Given the description of an element on the screen output the (x, y) to click on. 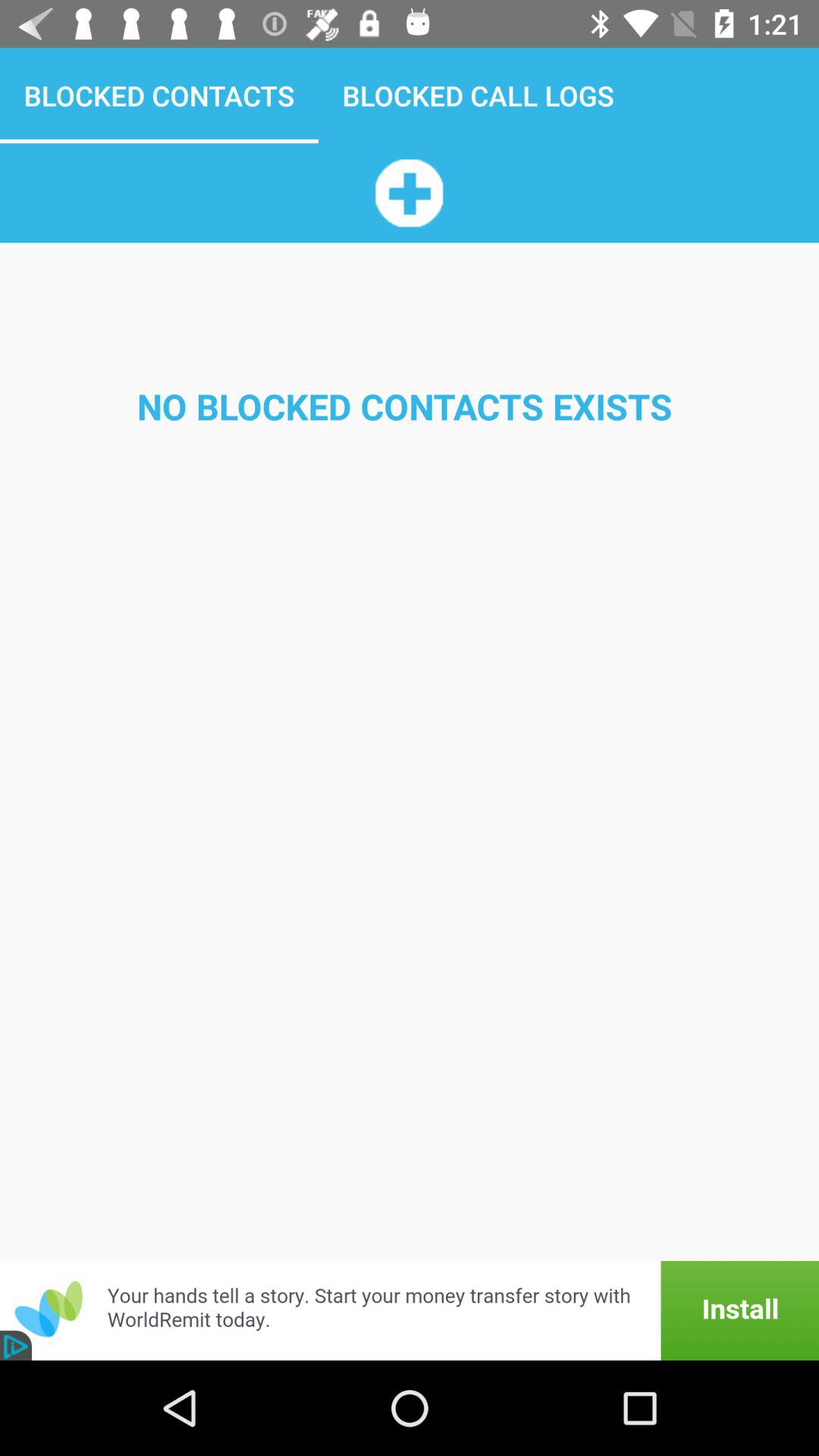
press app below the blocked call logs app (409, 193)
